Given the description of an element on the screen output the (x, y) to click on. 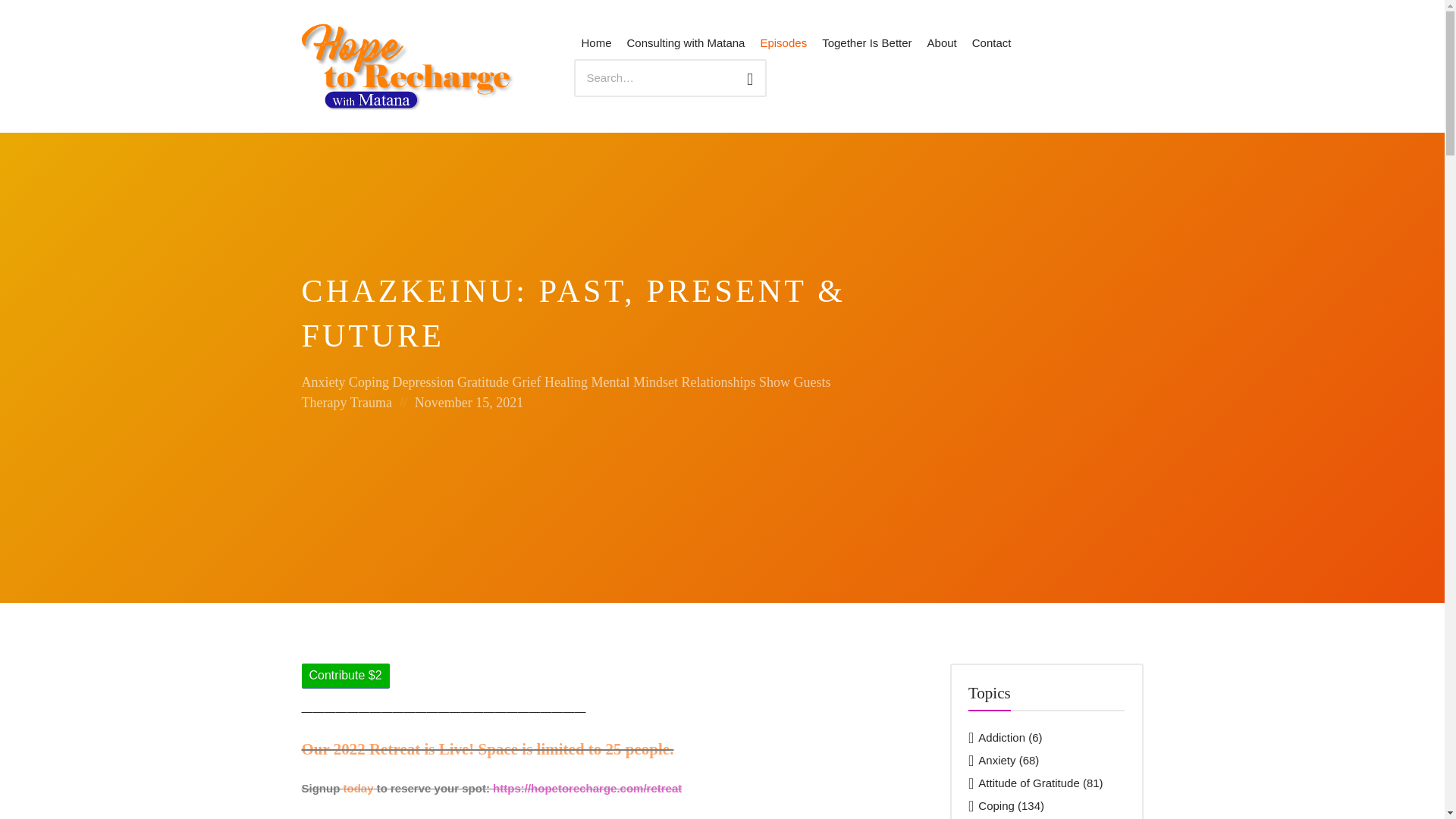
Healing (566, 381)
Grief (526, 381)
Show Guests (794, 381)
Gratitude (482, 381)
today (357, 788)
Therapy (324, 402)
Mindset (655, 381)
Consulting with Matana (686, 43)
Mental (609, 381)
Home (595, 43)
